Given the description of an element on the screen output the (x, y) to click on. 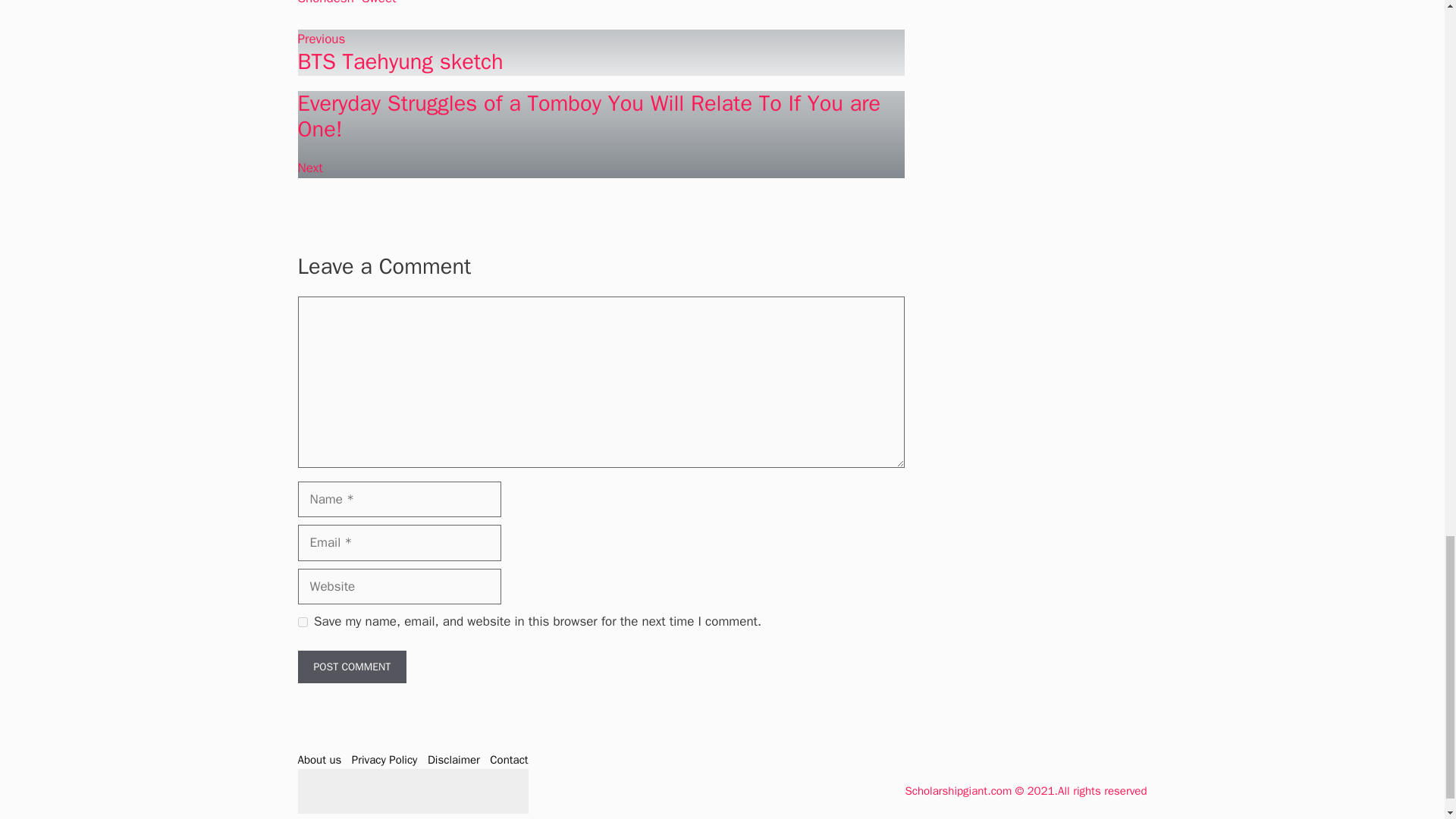
yes (302, 622)
Post Comment (351, 666)
About us (318, 759)
Privacy Policy (384, 759)
Contact (508, 759)
Post Comment (351, 666)
Disclaimer (454, 759)
